Given the description of an element on the screen output the (x, y) to click on. 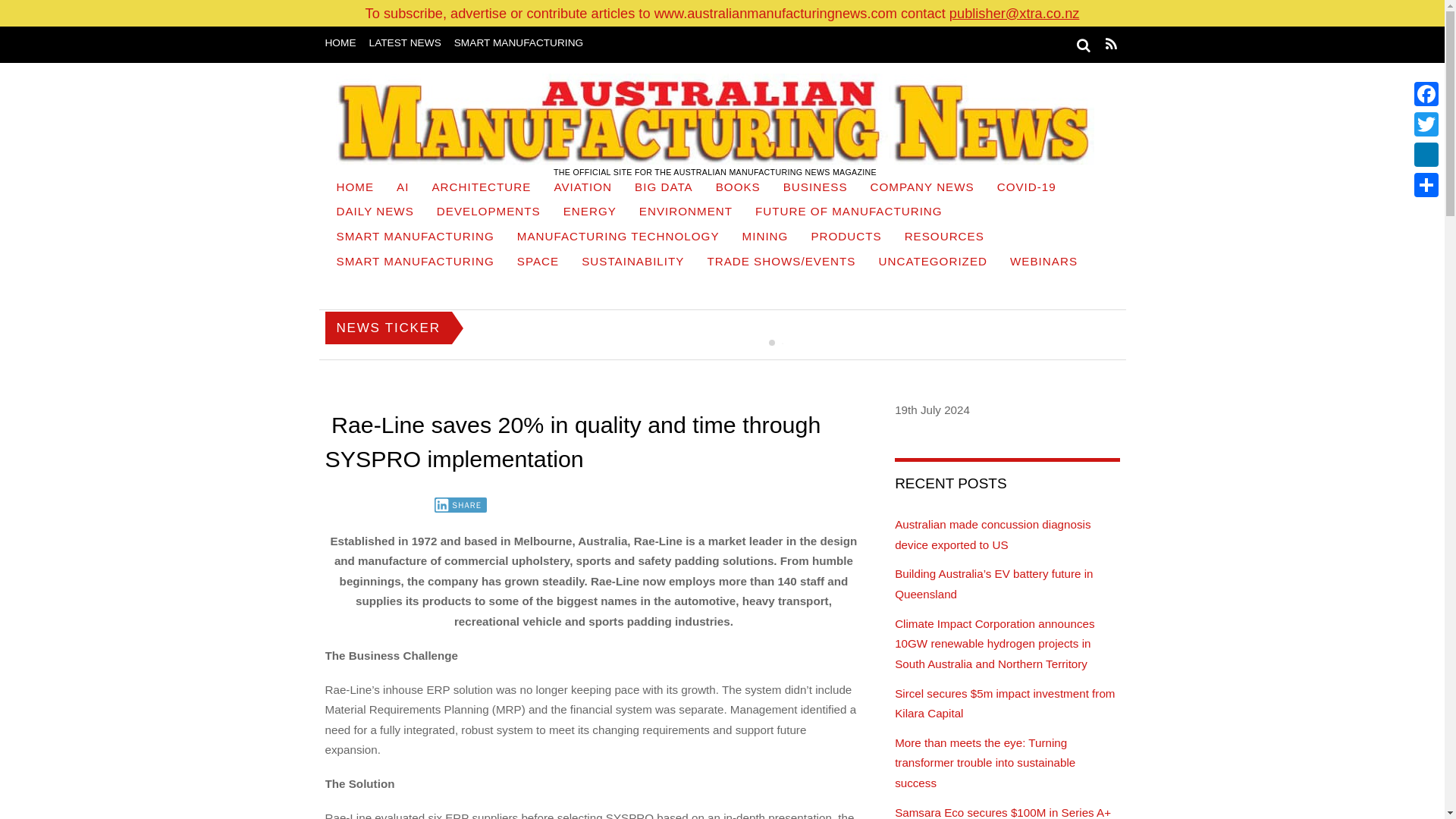
BIG DATA (663, 188)
ARCHITECTURE (480, 188)
SPACE (537, 263)
COMPANY NEWS (922, 188)
SMART MANUFACTURING (414, 263)
AI (402, 188)
AVIATION (582, 188)
HOME (339, 42)
Australian Manufacturing News (713, 118)
MINING (764, 238)
SMART MANUFACTURING (414, 238)
BOOKS (737, 188)
LATEST NEWS (405, 42)
Australian Manufacturing News (713, 118)
ENERGY (589, 213)
